Given the description of an element on the screen output the (x, y) to click on. 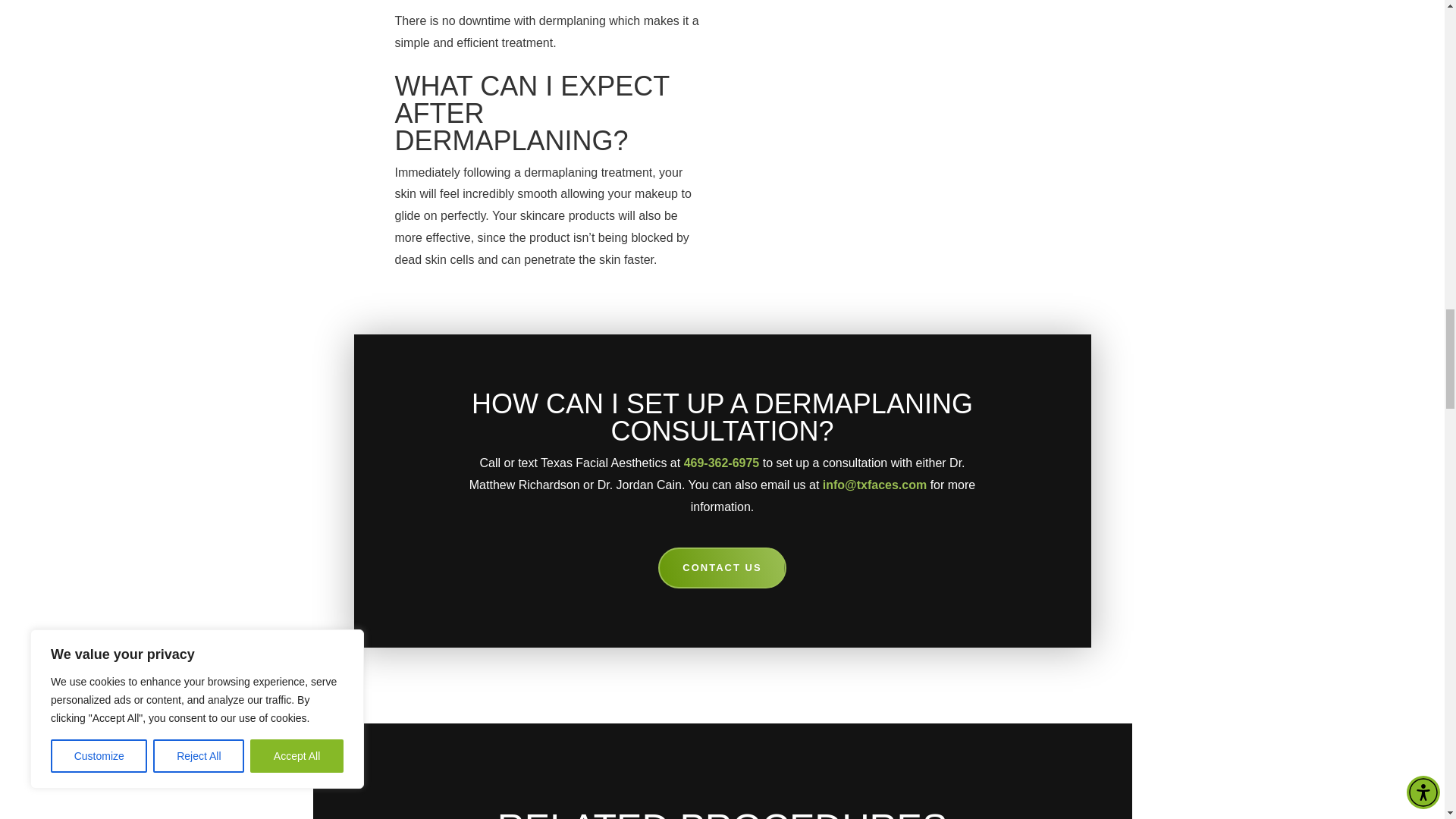
beautiful blonde woman (894, 135)
